Given the description of an element on the screen output the (x, y) to click on. 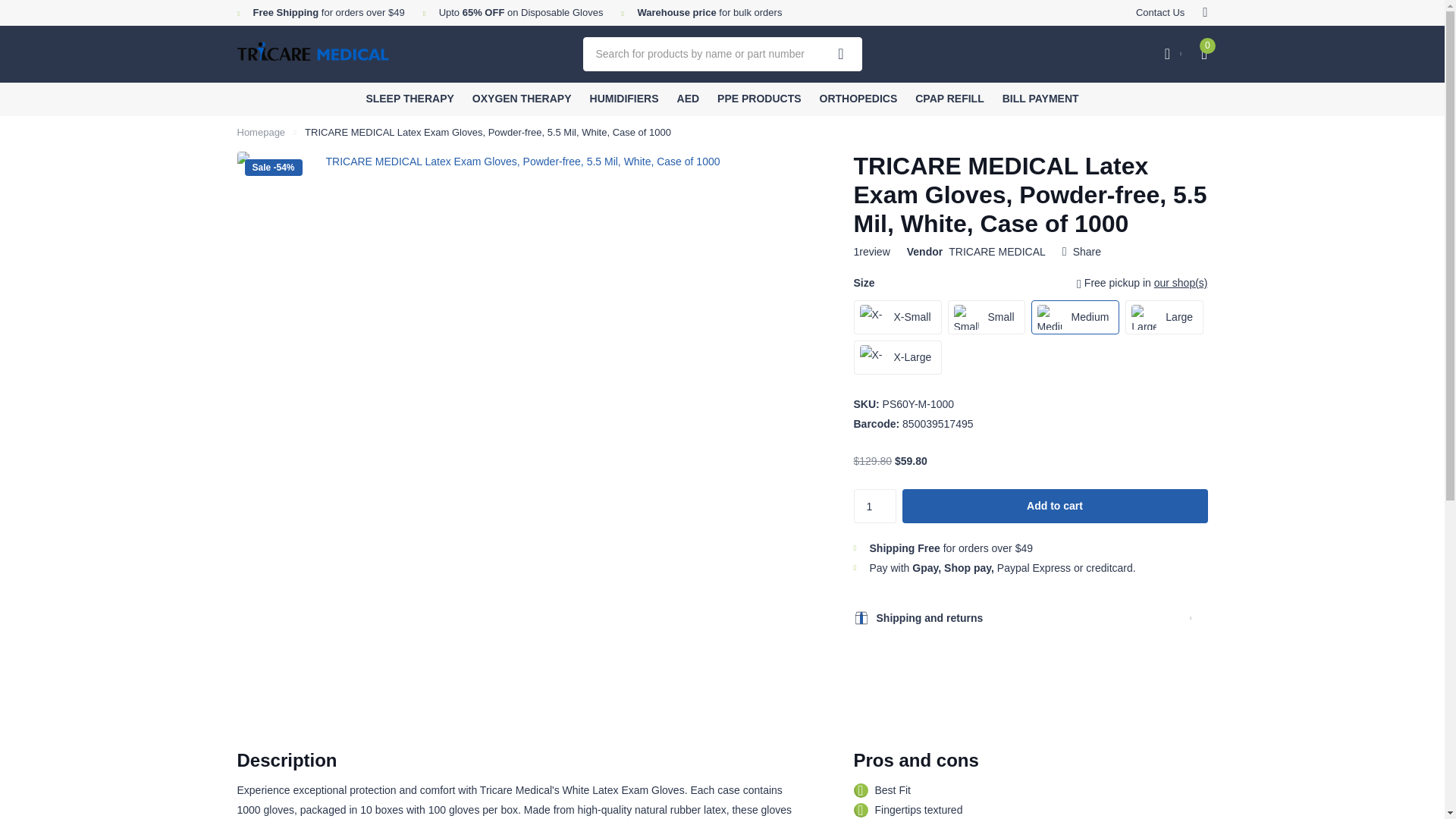
Zoeken (841, 53)
SLEEP THERAPY (408, 99)
Home (260, 132)
0 (1203, 53)
1 (874, 505)
Contact Us (1160, 12)
